Given the description of an element on the screen output the (x, y) to click on. 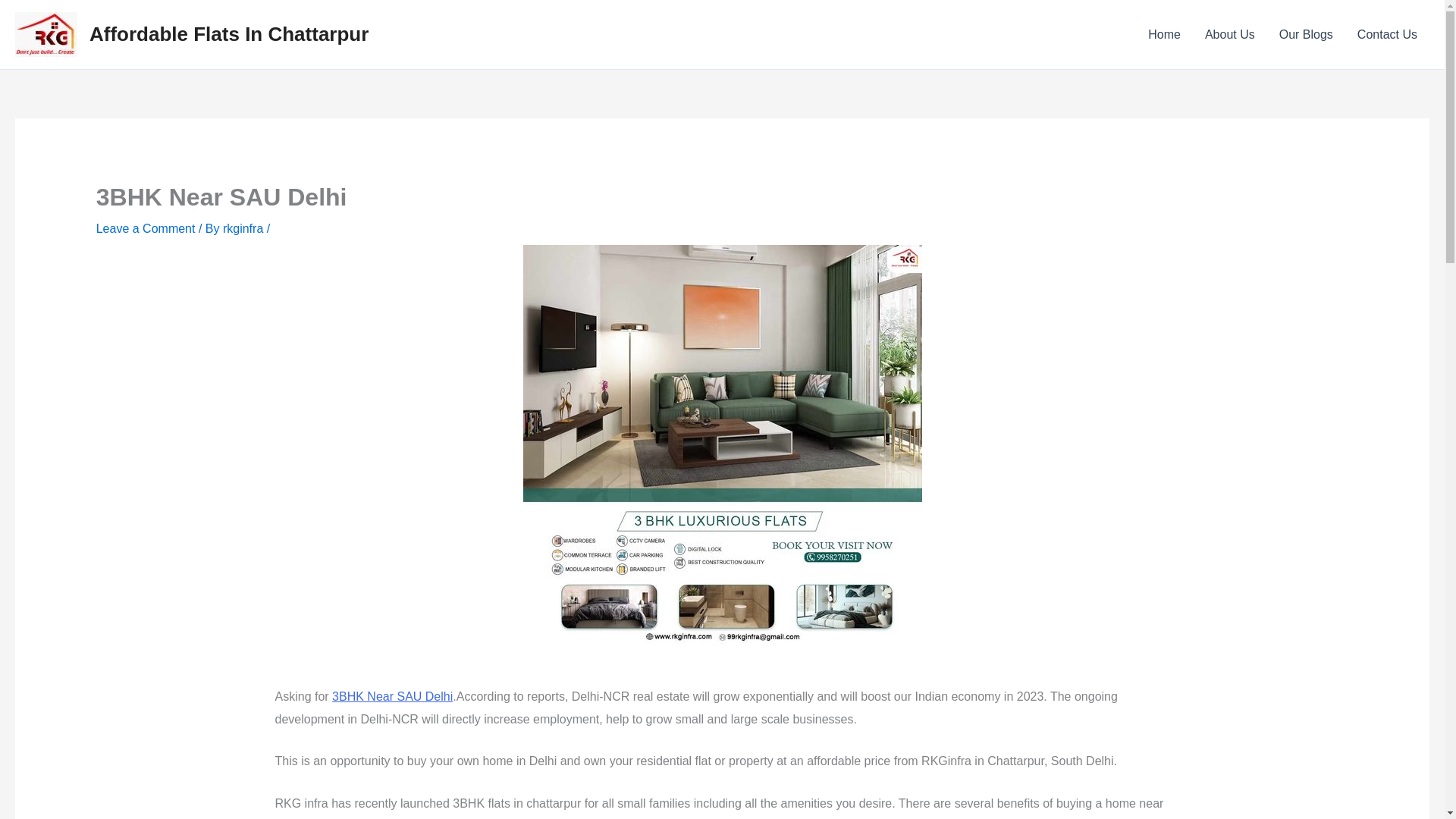
Our Blogs (1305, 34)
About Us (1229, 34)
Contact Us (1387, 34)
Affordable Flats In Chattarpur (228, 33)
Home (1163, 34)
View all posts by rkginfra (244, 228)
